Given the description of an element on the screen output the (x, y) to click on. 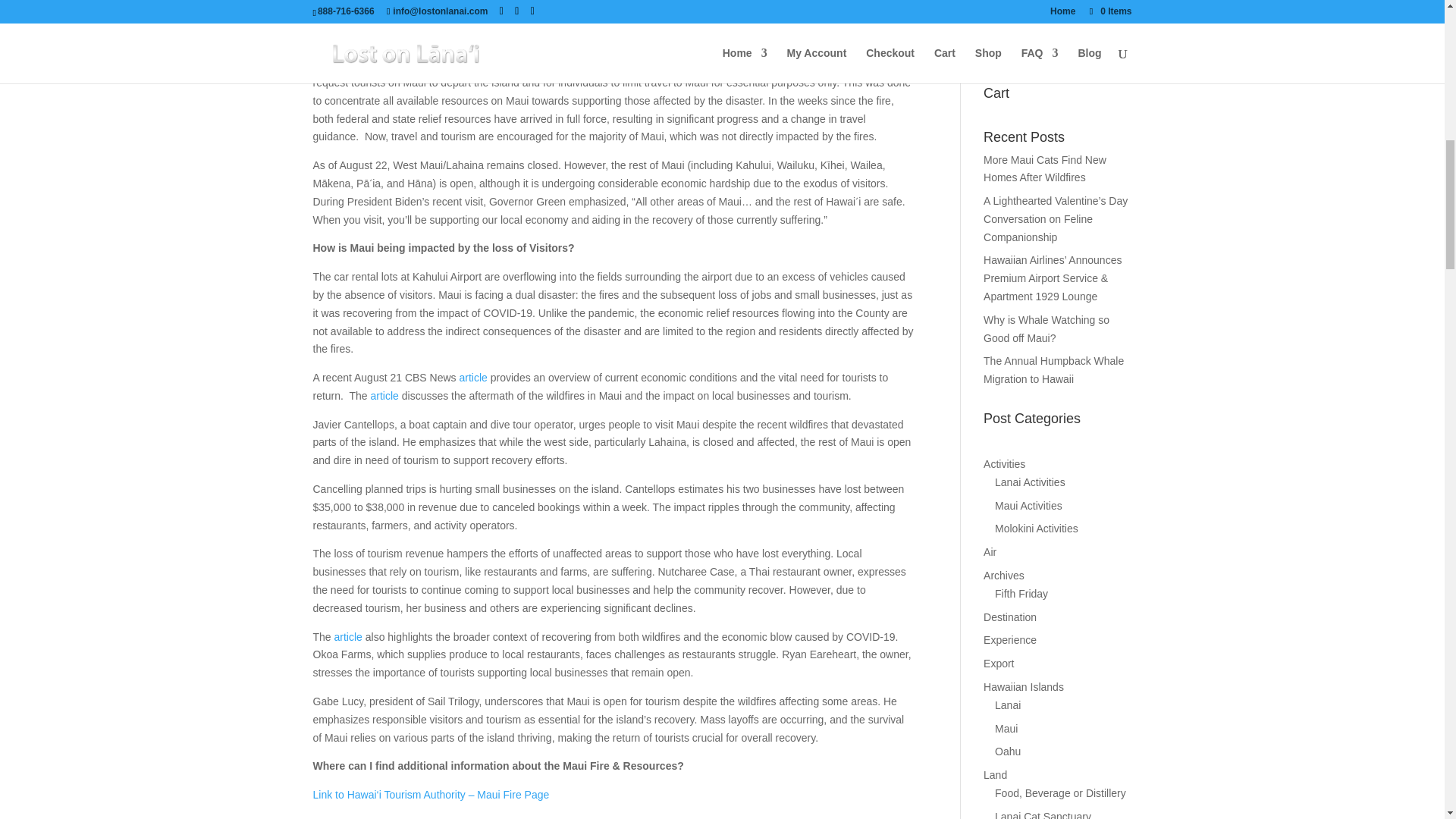
article (384, 395)
article (473, 377)
article (348, 636)
